Given the description of an element on the screen output the (x, y) to click on. 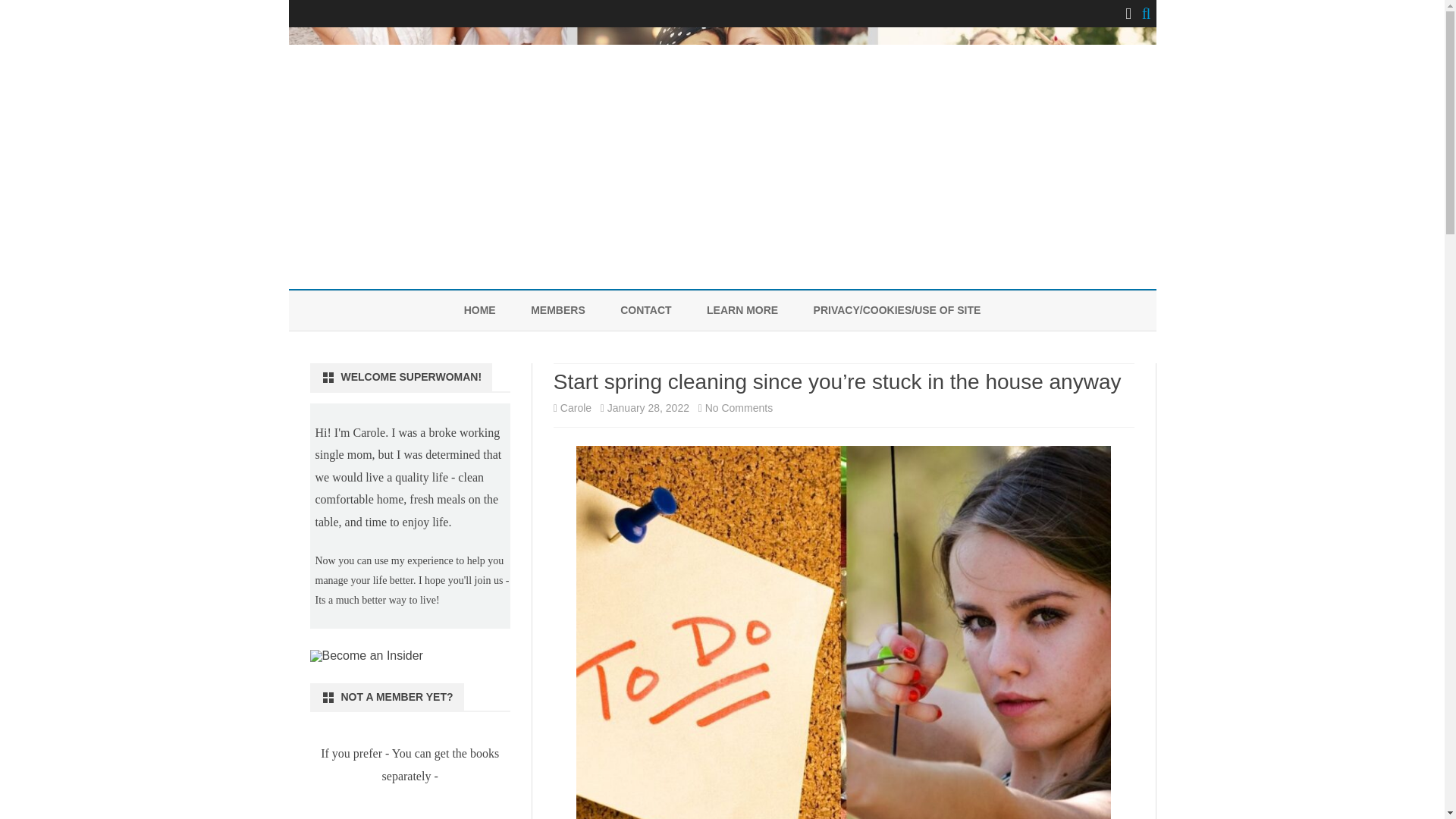
Carole (575, 408)
CONTACT (645, 310)
MEMBERS (558, 310)
LEARN MORE (741, 310)
